Given the description of an element on the screen output the (x, y) to click on. 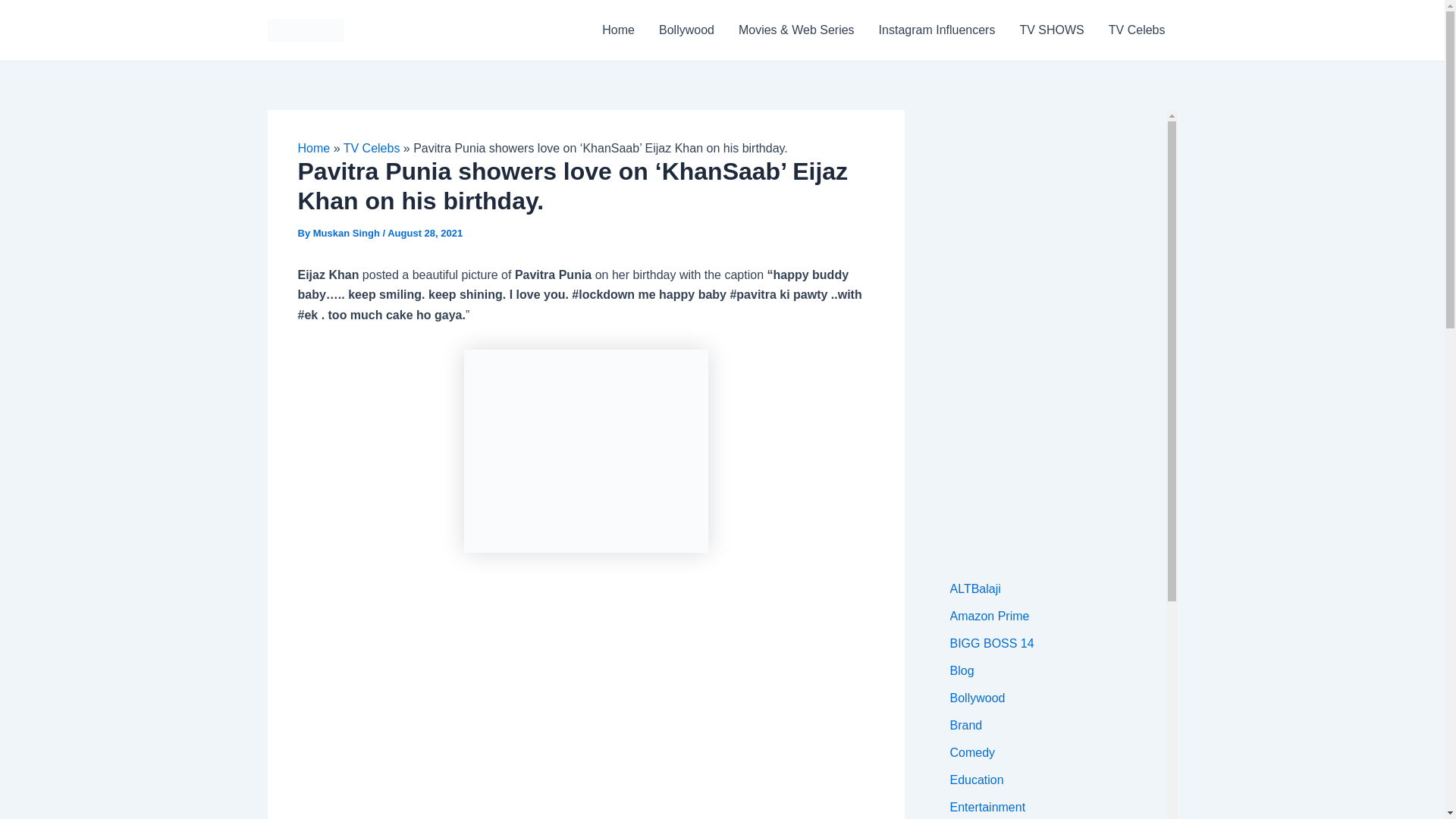
TV Celebs (1136, 30)
Home (313, 147)
TV SHOWS (1051, 30)
Bollywood (686, 30)
Home (617, 30)
Muskan Singh (347, 233)
View all posts by Muskan Singh (347, 233)
Instagram Influencers (936, 30)
TV Celebs (371, 147)
